Given the description of an element on the screen output the (x, y) to click on. 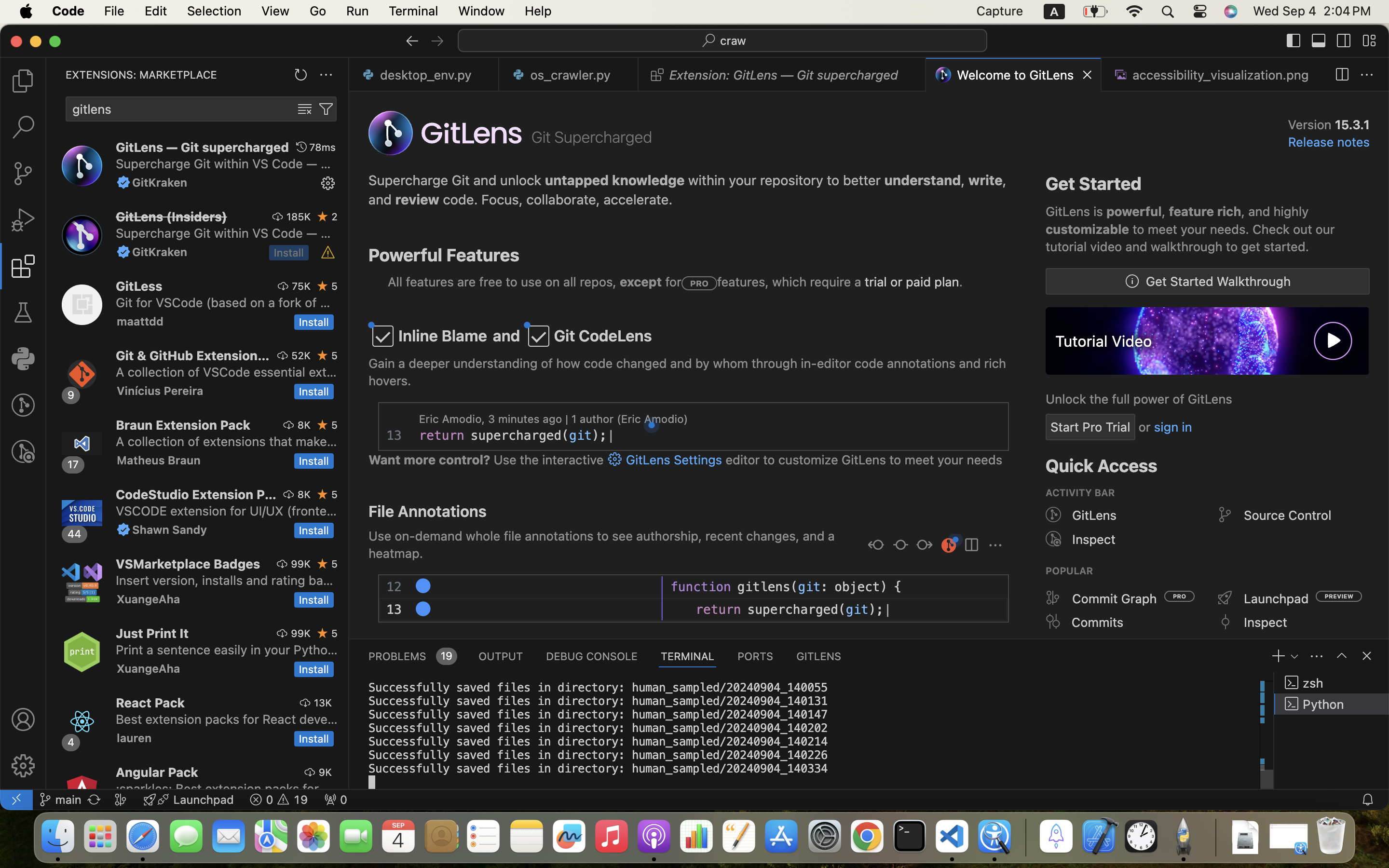
React Pack Element type: AXStaticText (150, 702)
GitLens — Git supercharged Element type: AXStaticText (202, 146)
0 PORTS Element type: AXRadioButton (755, 655)
Shawn Sandy Element type: AXStaticText (169, 529)
75K Element type: AXStaticText (301, 285)
